Given the description of an element on the screen output the (x, y) to click on. 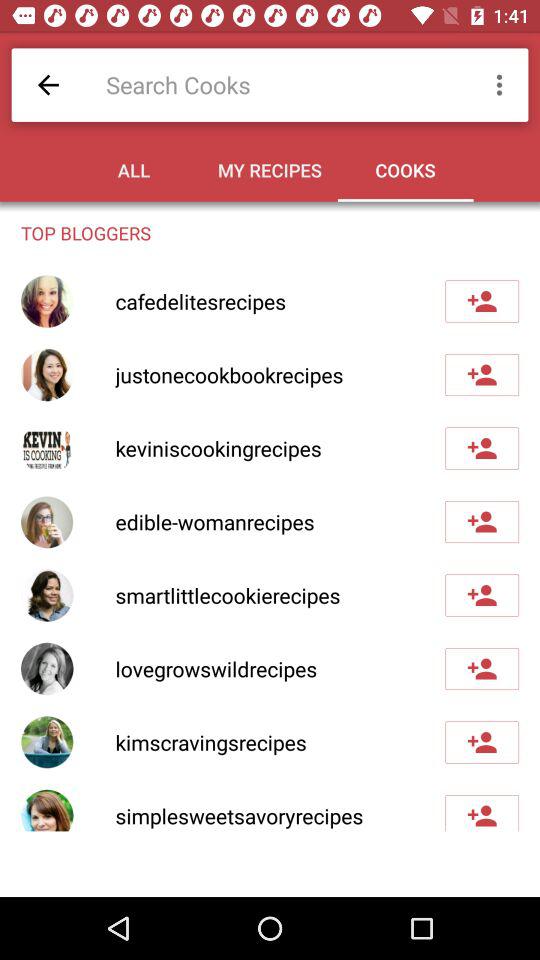
add friend (482, 301)
